Given the description of an element on the screen output the (x, y) to click on. 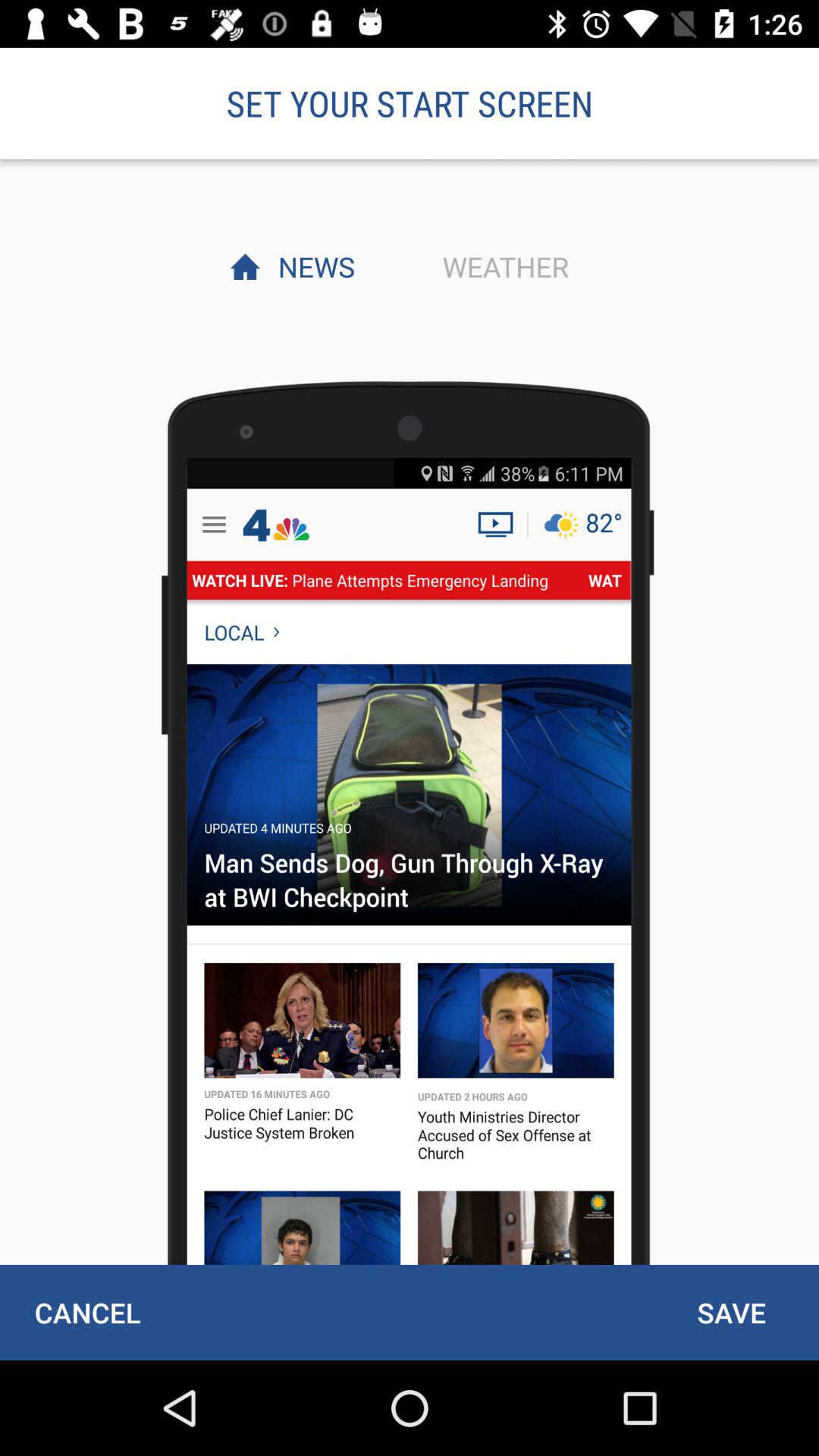
open icon to the right of cancel (731, 1312)
